Given the description of an element on the screen output the (x, y) to click on. 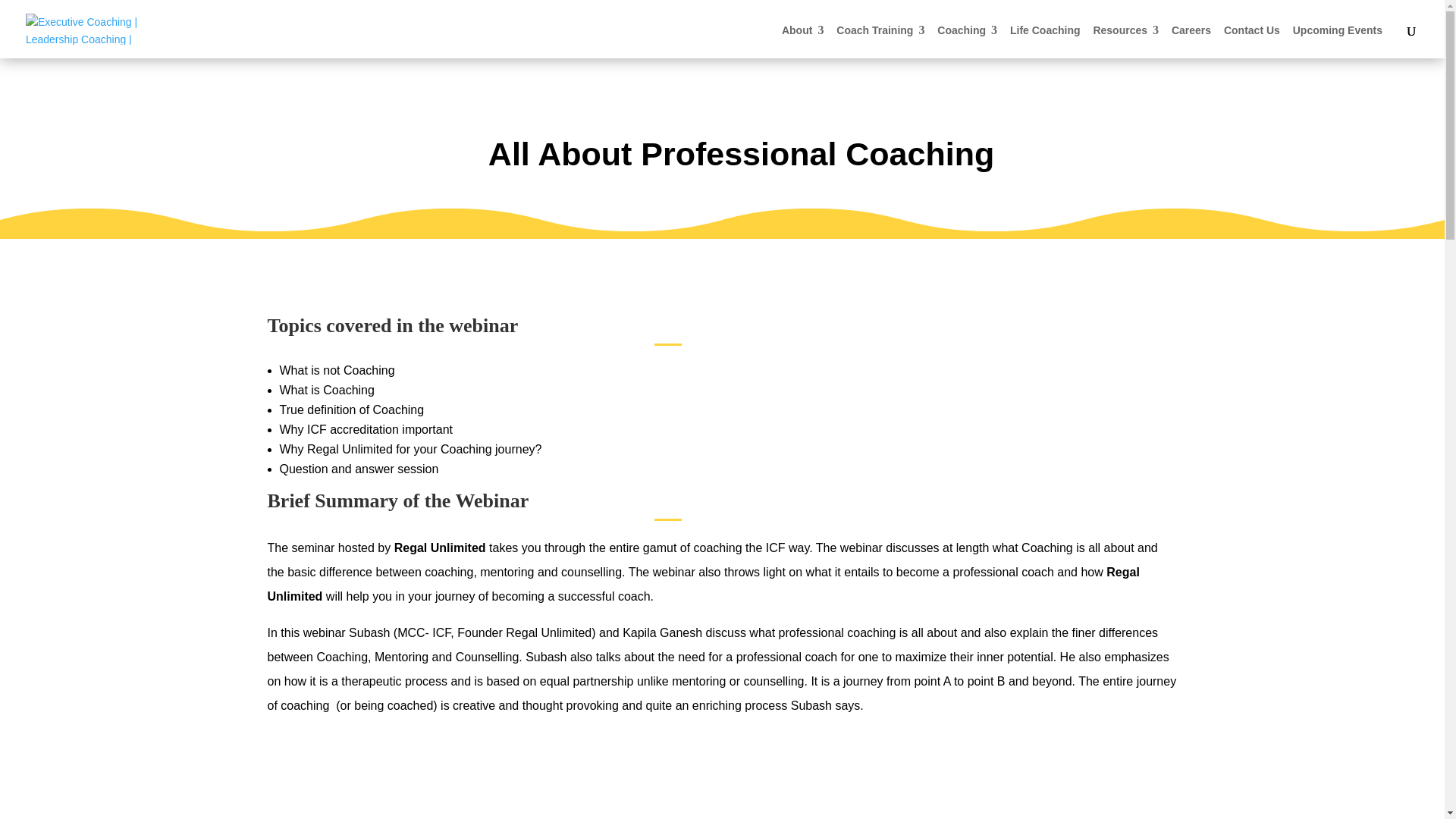
Resources (1125, 30)
Regal Webinar - All about Professional Coaching (721, 788)
Careers (1191, 30)
Coach Training (879, 30)
Coaching (967, 30)
Upcoming Events (1336, 30)
About (802, 30)
Life Coaching (1045, 30)
Contact Us (1251, 30)
